Given the description of an element on the screen output the (x, y) to click on. 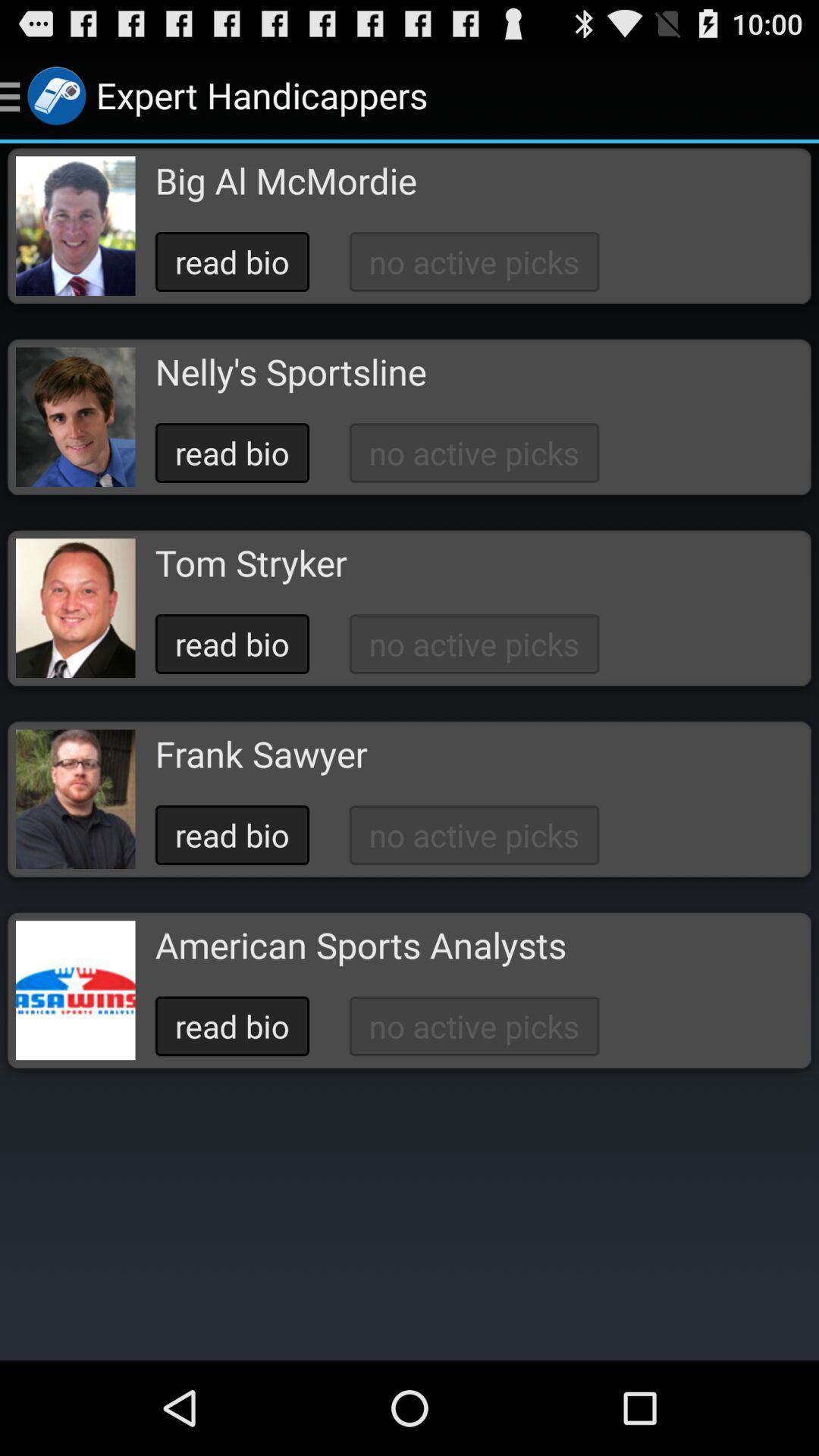
choose frank sawyer app (261, 753)
